Given the description of an element on the screen output the (x, y) to click on. 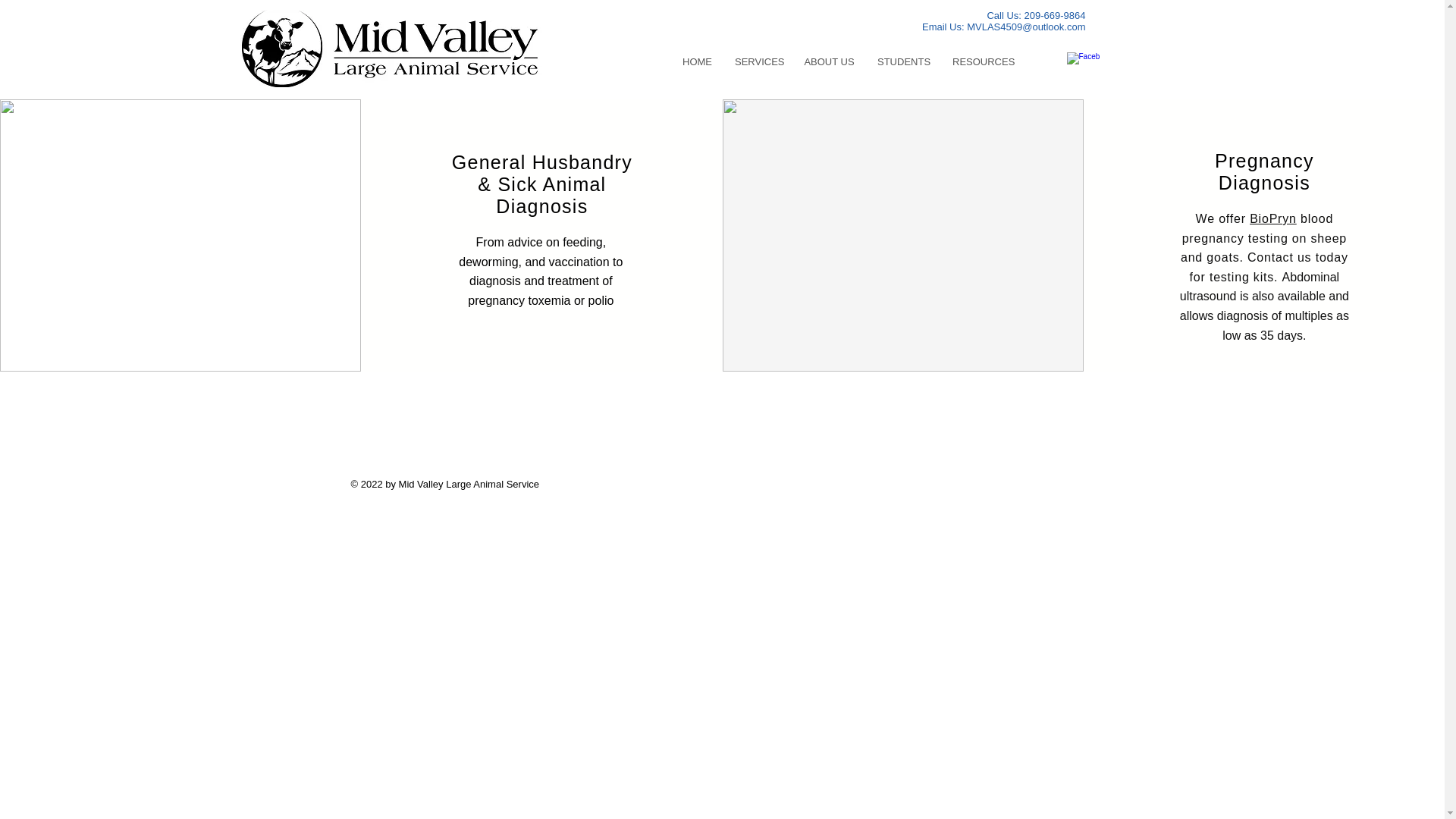
SERVICES (757, 61)
RESOURCES (981, 61)
HOME (697, 61)
STUDENTS (903, 61)
ABOUT US (829, 61)
MidValleyLargD22aR02cP01ZL-Pierce2c.jpg (280, 47)
BioPryn (1273, 218)
